Given the description of an element on the screen output the (x, y) to click on. 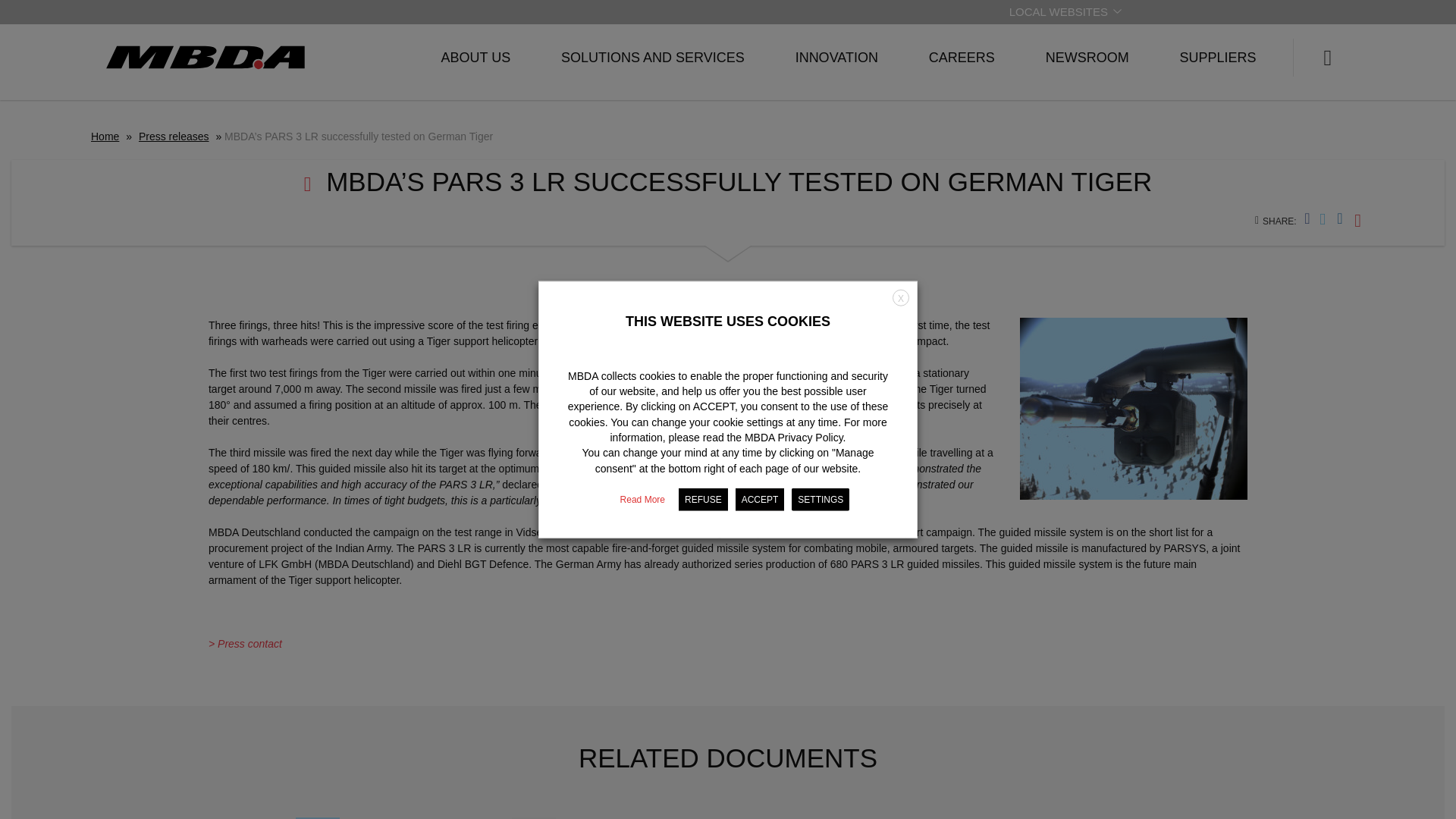
Close and Accept (900, 297)
SOLUTIONS AND SERVICES (652, 57)
ABOUT US (474, 57)
